Given the description of an element on the screen output the (x, y) to click on. 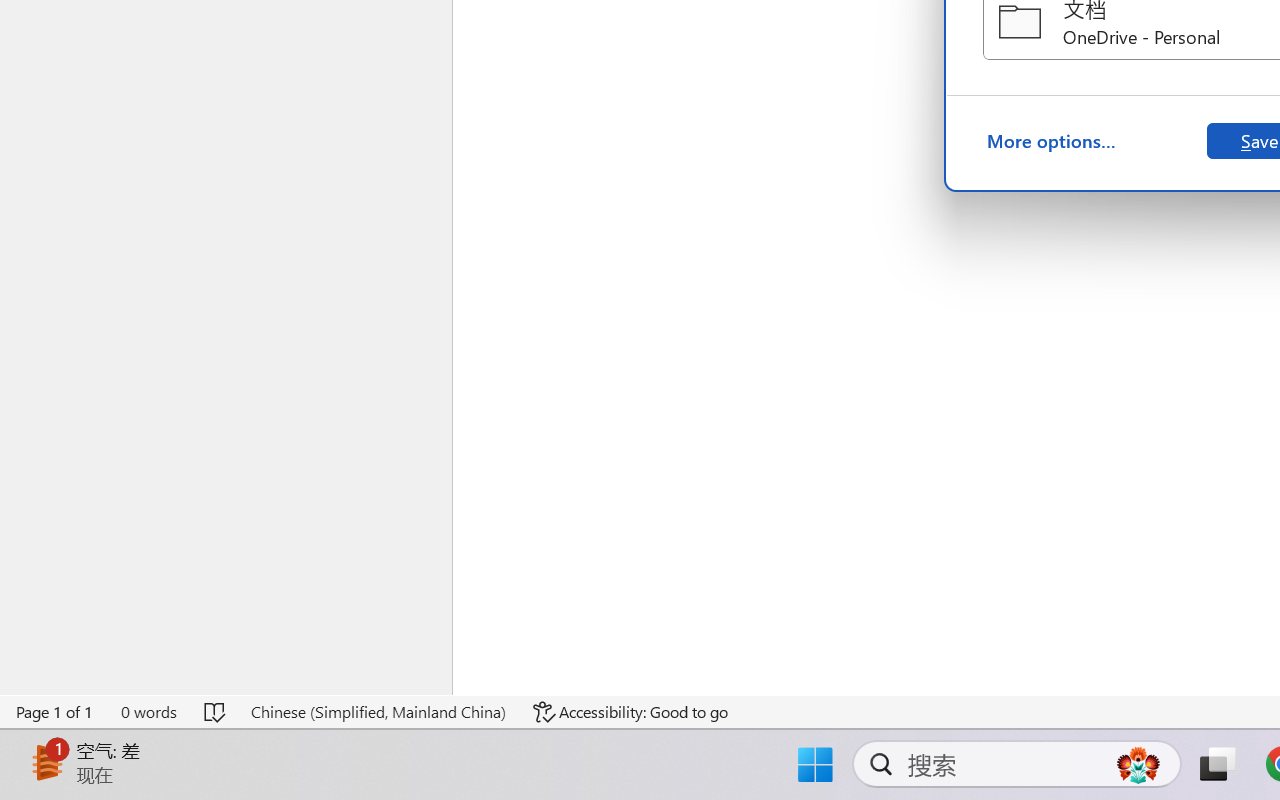
Language Chinese (Simplified, Mainland China) (378, 712)
